Given the description of an element on the screen output the (x, y) to click on. 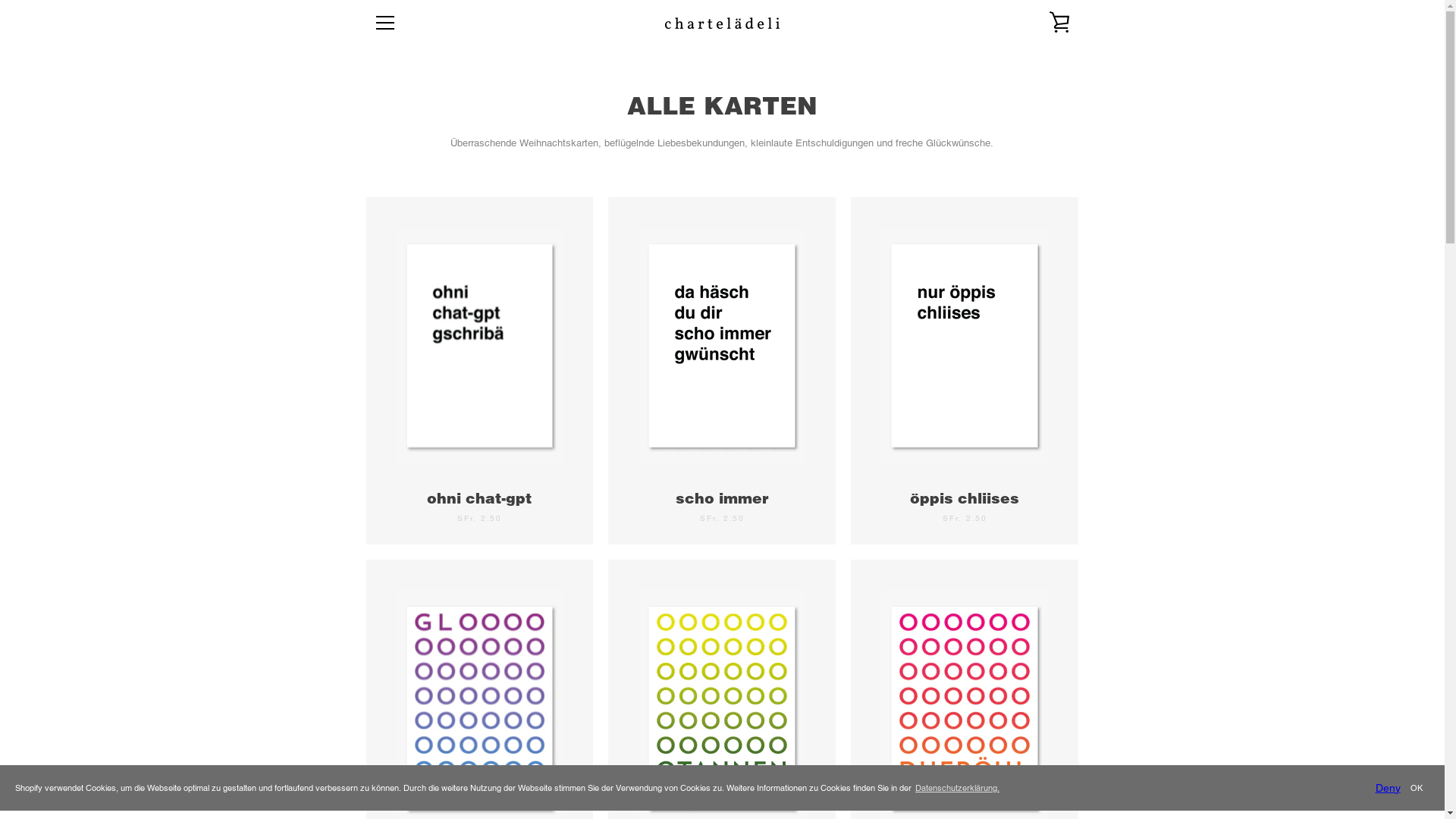
EINKAUFSWAGEN ANSEHEN Element type: text (1059, 22)
INDIVIDUELLE KARTEN Element type: text (423, 669)
VERSAND Element type: text (580, 708)
DATENSCHUTZ Element type: text (591, 669)
ABONNIEREN Element type: text (1032, 710)
Deny Element type: text (1387, 788)
Instagram Element type: text (372, 779)
Direkt zum Inhalt Element type: text (0, 0)
KONTAKT / IMPRESSUM Element type: text (424, 727)
ohni chat-gpt
SFr. 2.50 Element type: text (479, 370)
WIDERRUFSRECHT Element type: text (600, 688)
INFORMATIONEN / FAQ Element type: text (423, 650)
AGB Element type: text (568, 650)
scho immer
SFr. 2.50 Element type: text (721, 370)
